Given the description of an element on the screen output the (x, y) to click on. 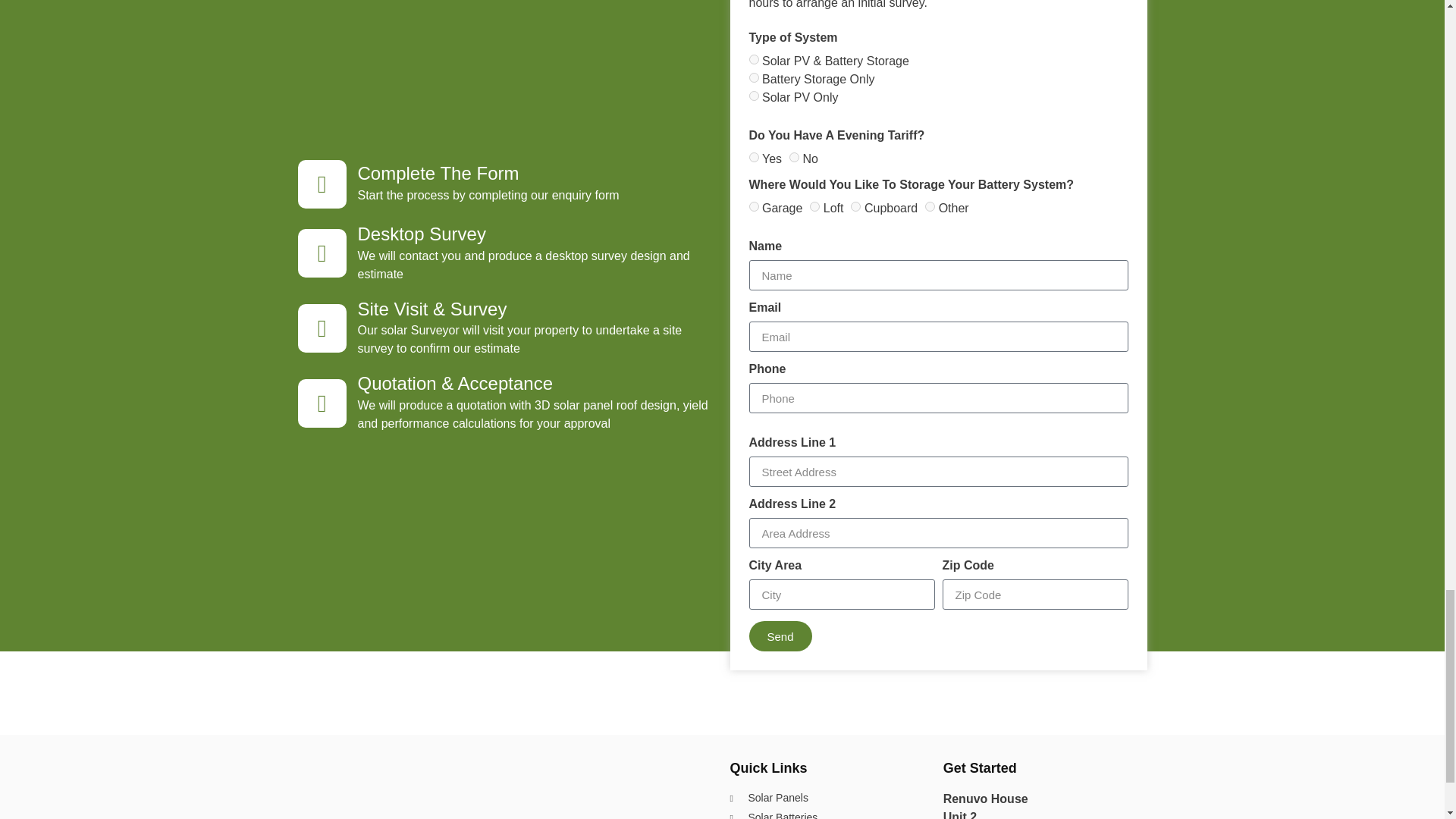
Solar PV Only (753, 95)
Loft (814, 206)
No (794, 157)
Battery Storage Only (753, 77)
Garage (753, 206)
Yes (753, 157)
Cupboard (855, 206)
Other (929, 206)
